Given the description of an element on the screen output the (x, y) to click on. 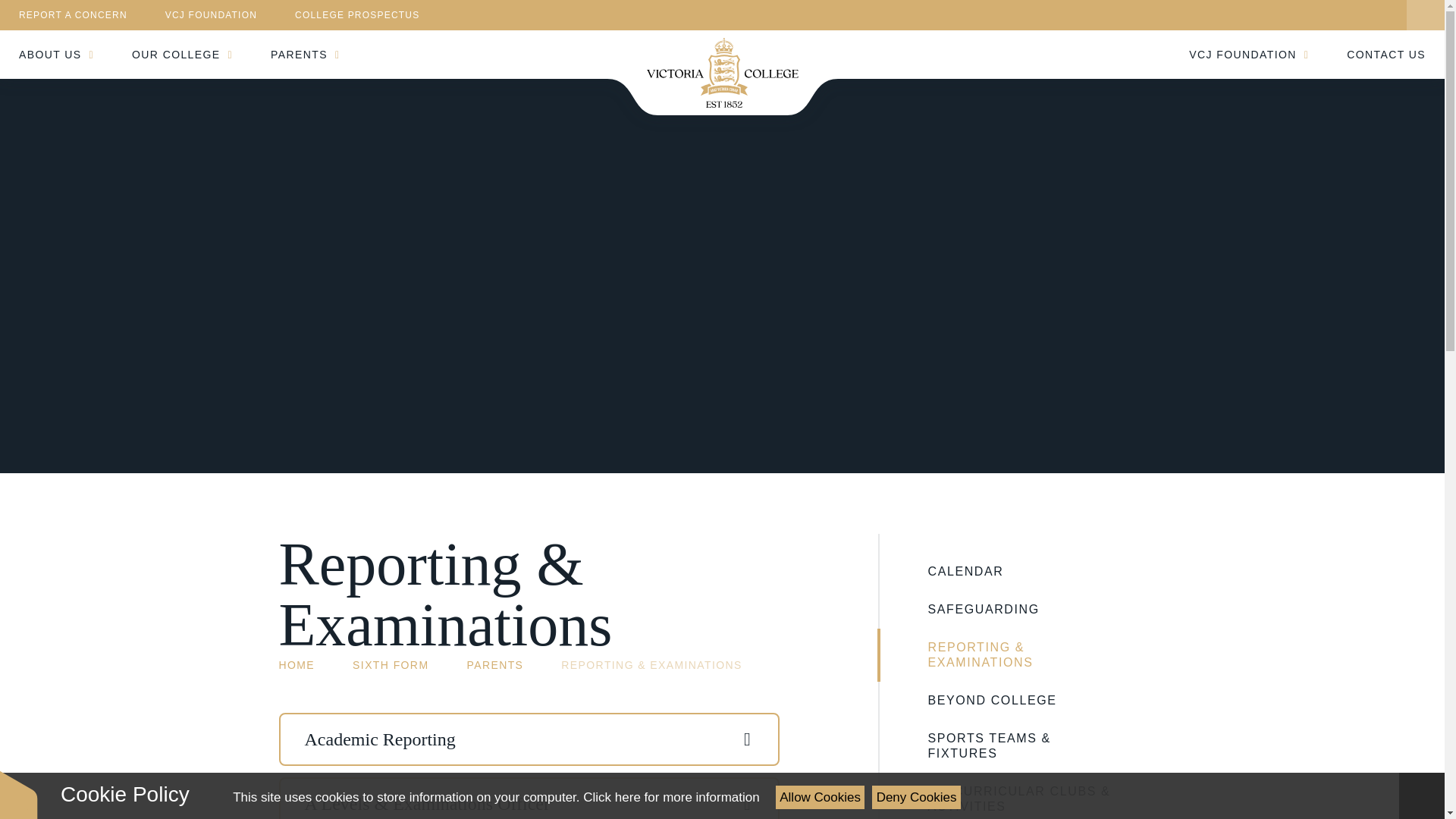
REPORT A CONCERN (73, 15)
ABOUT US (56, 54)
COLLEGE PROSPECTUS (357, 15)
OUR COLLEGE (182, 54)
VCJ FOUNDATION (211, 15)
